Given the description of an element on the screen output the (x, y) to click on. 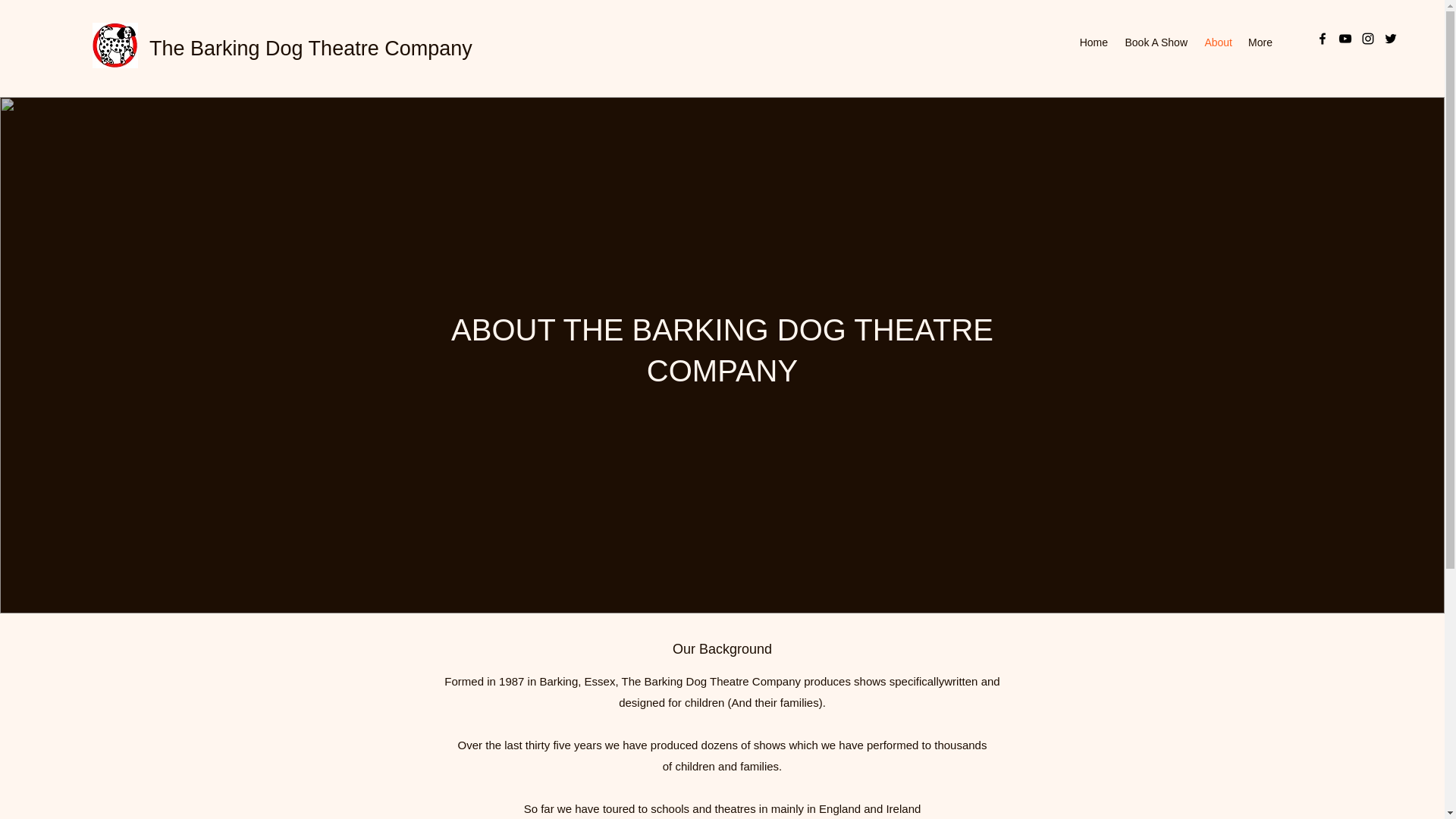
About (1217, 42)
Book A Show (1155, 42)
Home (1092, 42)
The Barking Dog Theatre Company (310, 47)
